Given the description of an element on the screen output the (x, y) to click on. 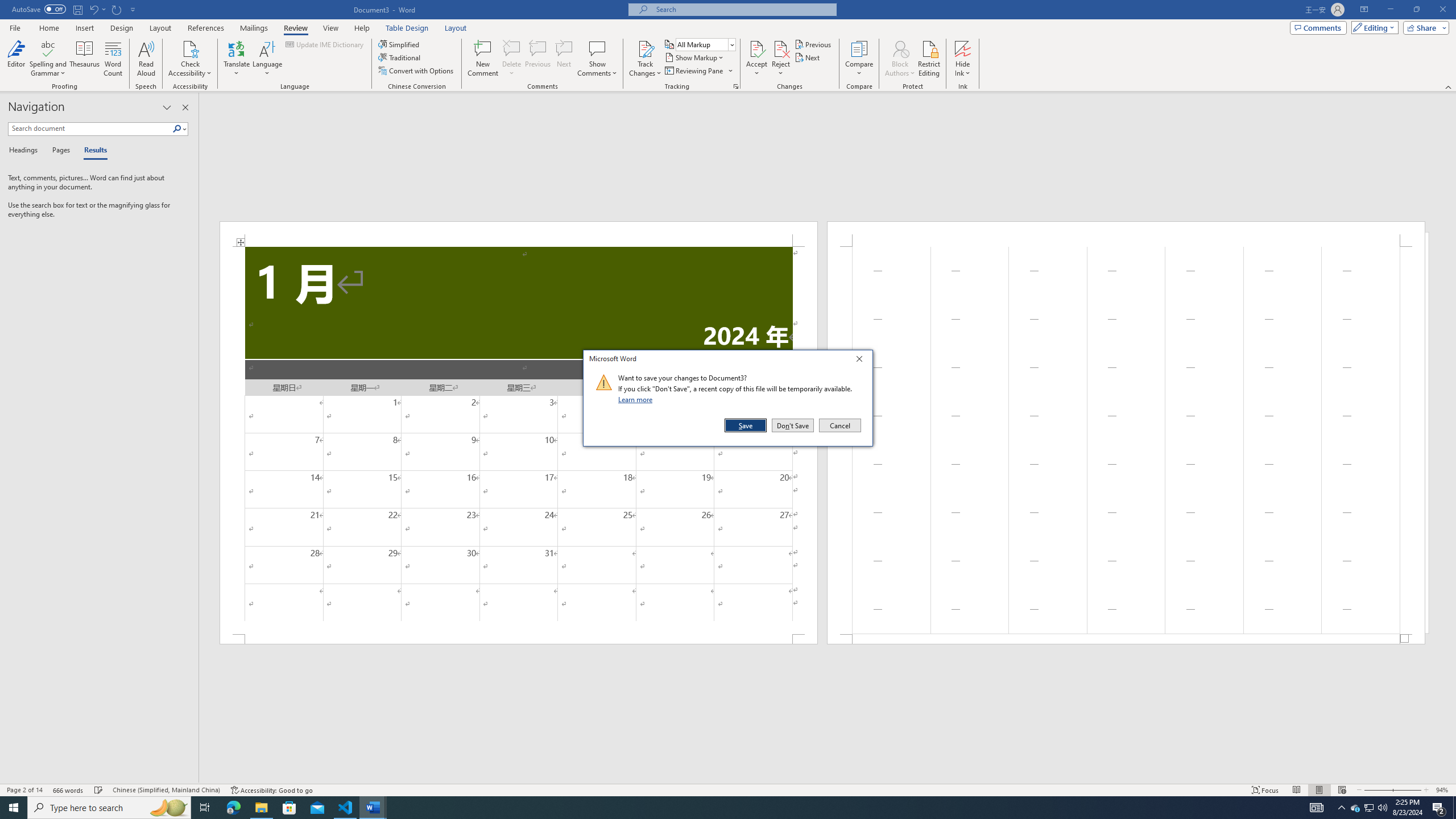
Change Tracking Options... (735, 85)
Task View (204, 807)
Mode (1372, 27)
Accessibility Checker Accessibility: Good to go (271, 790)
Hide Ink (962, 58)
Learn more (636, 399)
Convert with Options... (417, 69)
Insert (83, 28)
Update IME Dictionary... (324, 44)
Block Authors (900, 58)
Word - 2 running windows (373, 807)
View (330, 28)
Results (91, 150)
Track Changes (644, 48)
Table Design (407, 28)
